Given the description of an element on the screen output the (x, y) to click on. 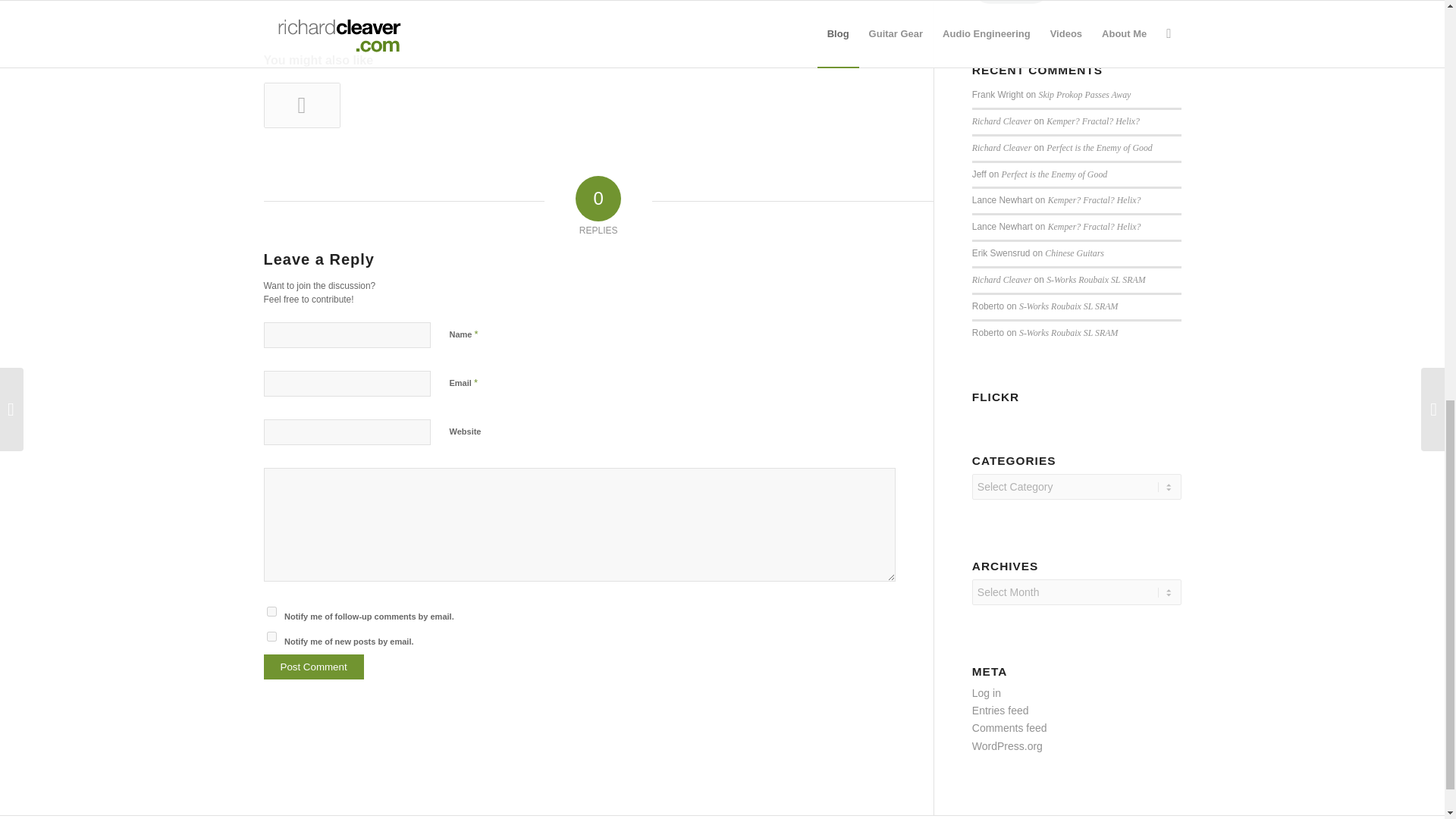
Kemper? Fractal? Helix? (1094, 226)
S-Works Roubaix SL SRAM (1068, 332)
Kemper? Fractal? Helix? (1094, 199)
Chinese Guitars (1074, 253)
subscribe (271, 636)
Kemper? Fractal? Helix? (1093, 121)
Richard Cleaver (1001, 121)
subscribe (271, 611)
Subscribe (1011, 2)
S-Works Roubaix SL SRAM (1095, 279)
Richard Cleaver (1001, 279)
Perfect is the Enemy of Good (1099, 147)
S-Works Roubaix SL SRAM (1068, 306)
Post Comment (313, 666)
Capo (301, 104)
